Given the description of an element on the screen output the (x, y) to click on. 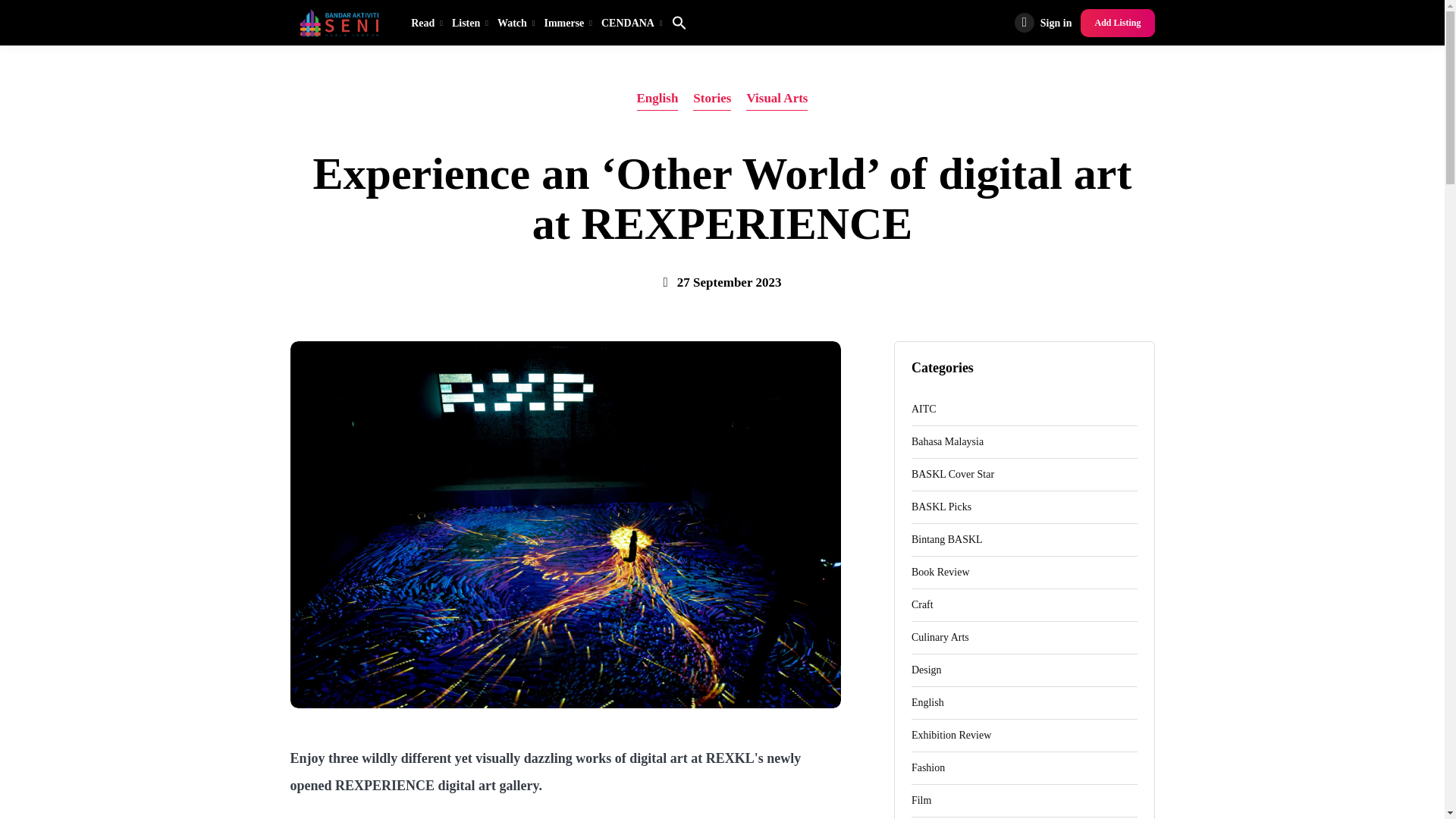
Read (426, 23)
Sign in (1043, 22)
Immerse (567, 23)
CENDANA (631, 23)
Stories (711, 98)
Read articles on our BASKL Cover Stars in English! (1024, 474)
Listen (469, 23)
Art In The City 2021 (1024, 409)
English (657, 98)
Visual Arts (776, 98)
Watch (516, 23)
Add Listing (1117, 22)
